Given the description of an element on the screen output the (x, y) to click on. 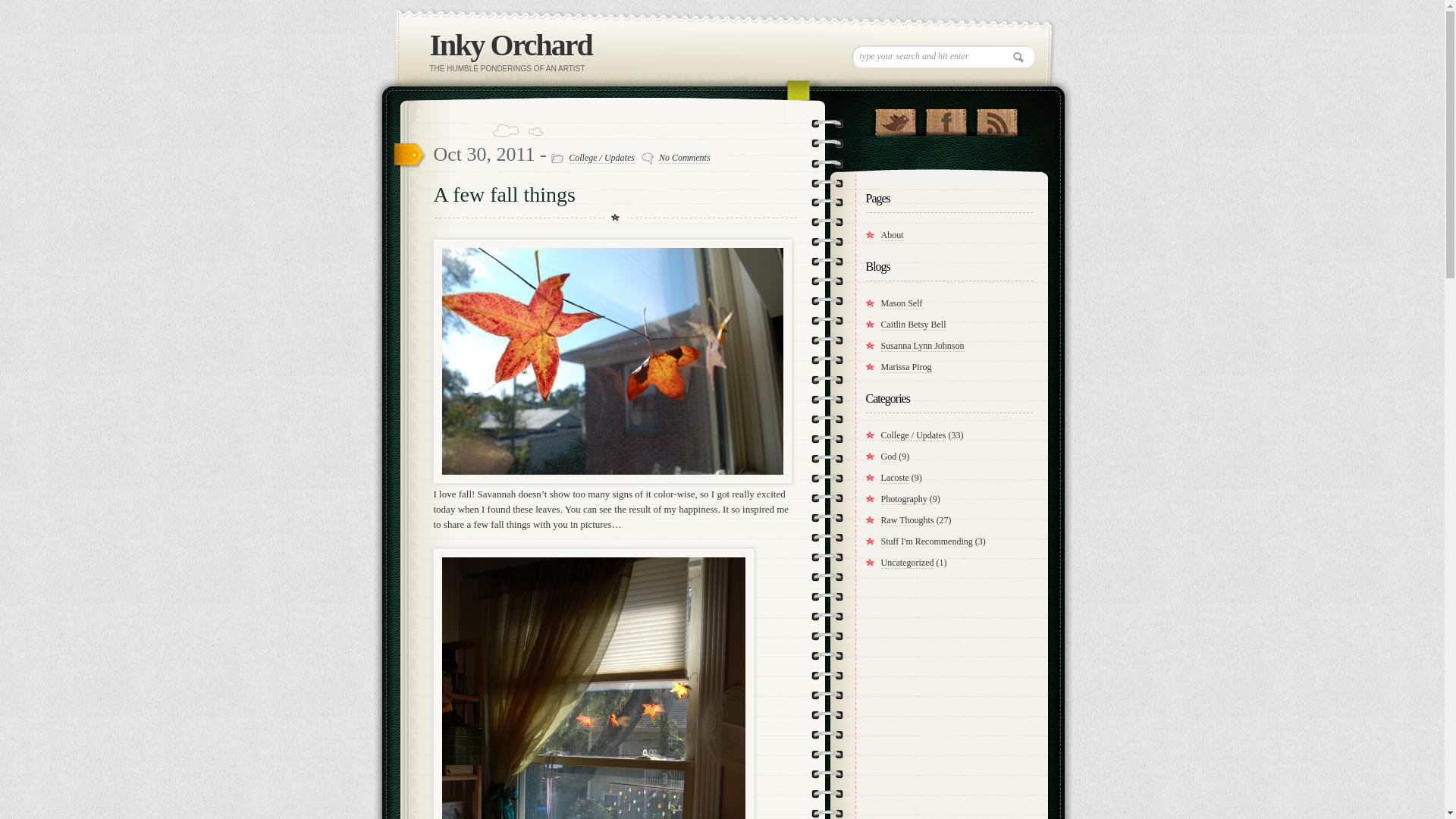
Join Us on Facebook! (945, 118)
Photography (903, 499)
Stuff I'm Recommending (926, 541)
Comment on A few fall things (684, 157)
Susanna Lynn Johnson (921, 346)
Raw Thoughts (907, 520)
Uncategorized (907, 562)
A few fall things (504, 194)
No Comments (684, 157)
"Join Us on Facebook! (945, 118)
type your search and hit enter (942, 56)
Follow Us on Twitter! (894, 118)
Caitlin Betsy Bell (913, 324)
